Given the description of an element on the screen output the (x, y) to click on. 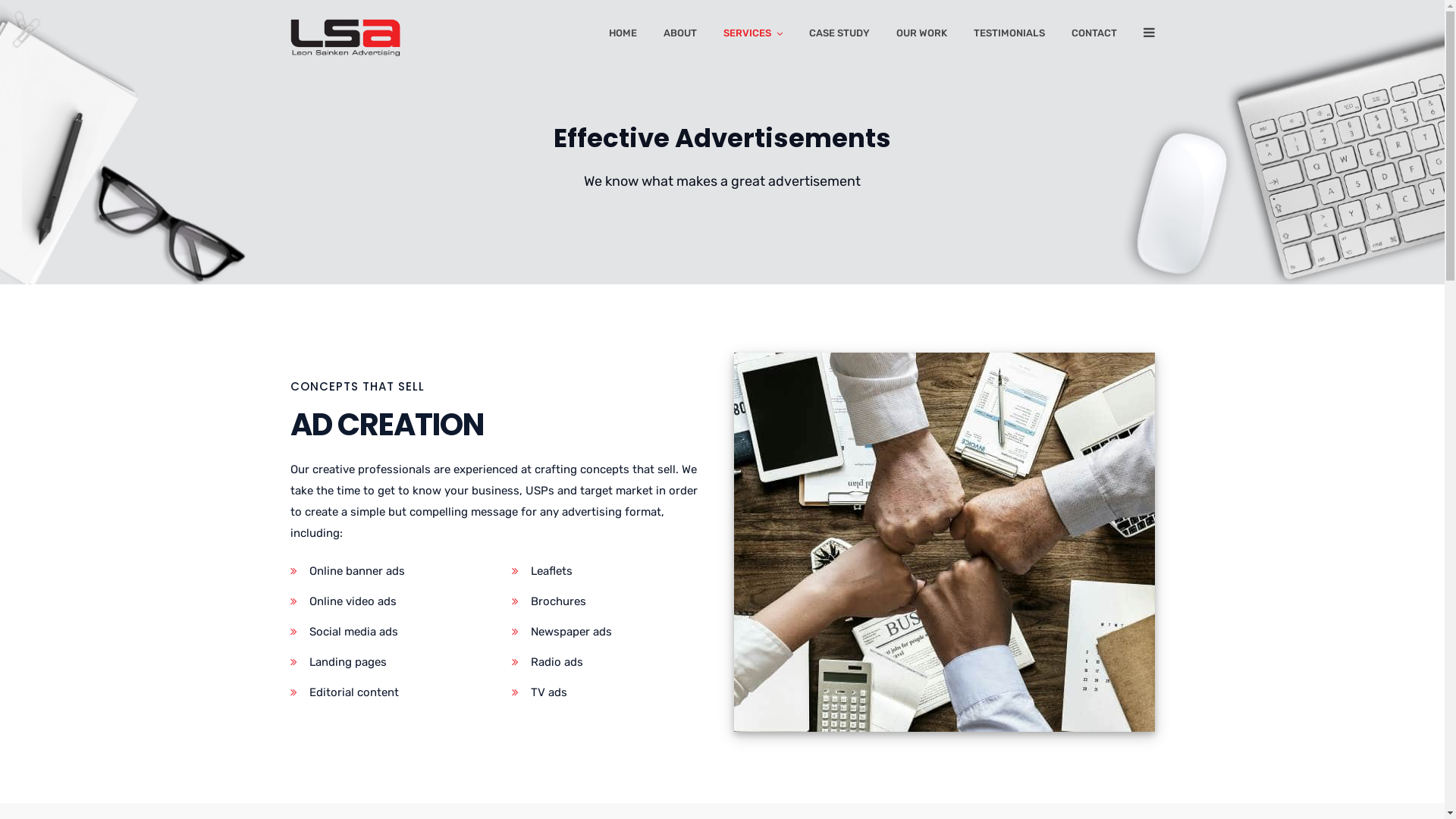
paper-3213924_1920 Element type: hover (944, 541)
TESTIMONIALS Element type: text (1008, 36)
SERVICES Element type: text (752, 36)
CASE STUDY Element type: text (838, 36)
HOME Element type: text (622, 36)
OUR WORK Element type: text (921, 36)
CONTACT Element type: text (1093, 36)
ABOUT Element type: text (679, 36)
